Given the description of an element on the screen output the (x, y) to click on. 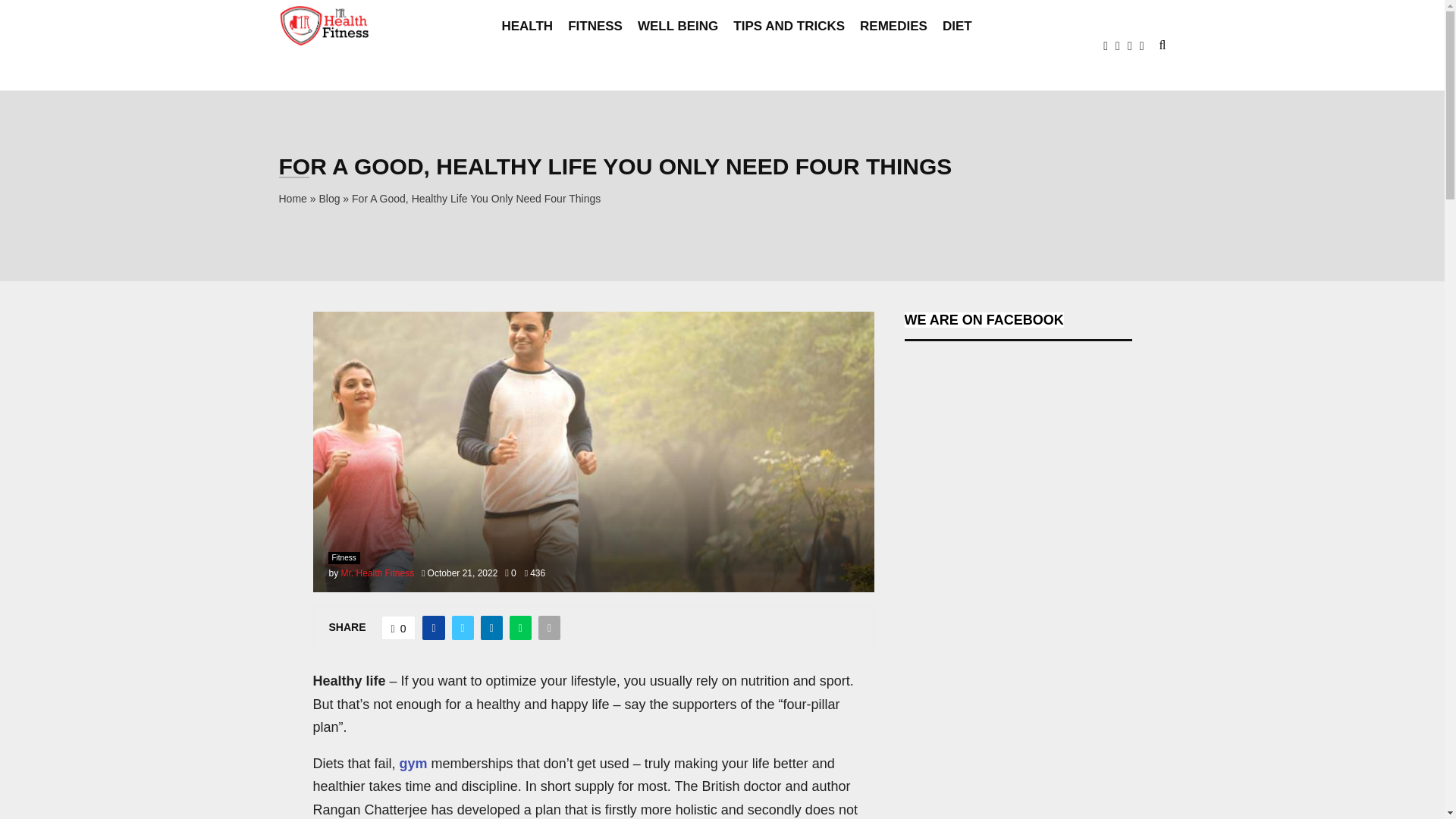
WELL BEING (677, 45)
TIPS AND TRICKS (788, 45)
Like (398, 627)
0 (510, 573)
gym (413, 763)
Blog (328, 198)
0 (398, 627)
Fitness (343, 558)
Home (293, 198)
Mr. Health Fitness (377, 573)
